Given the description of an element on the screen output the (x, y) to click on. 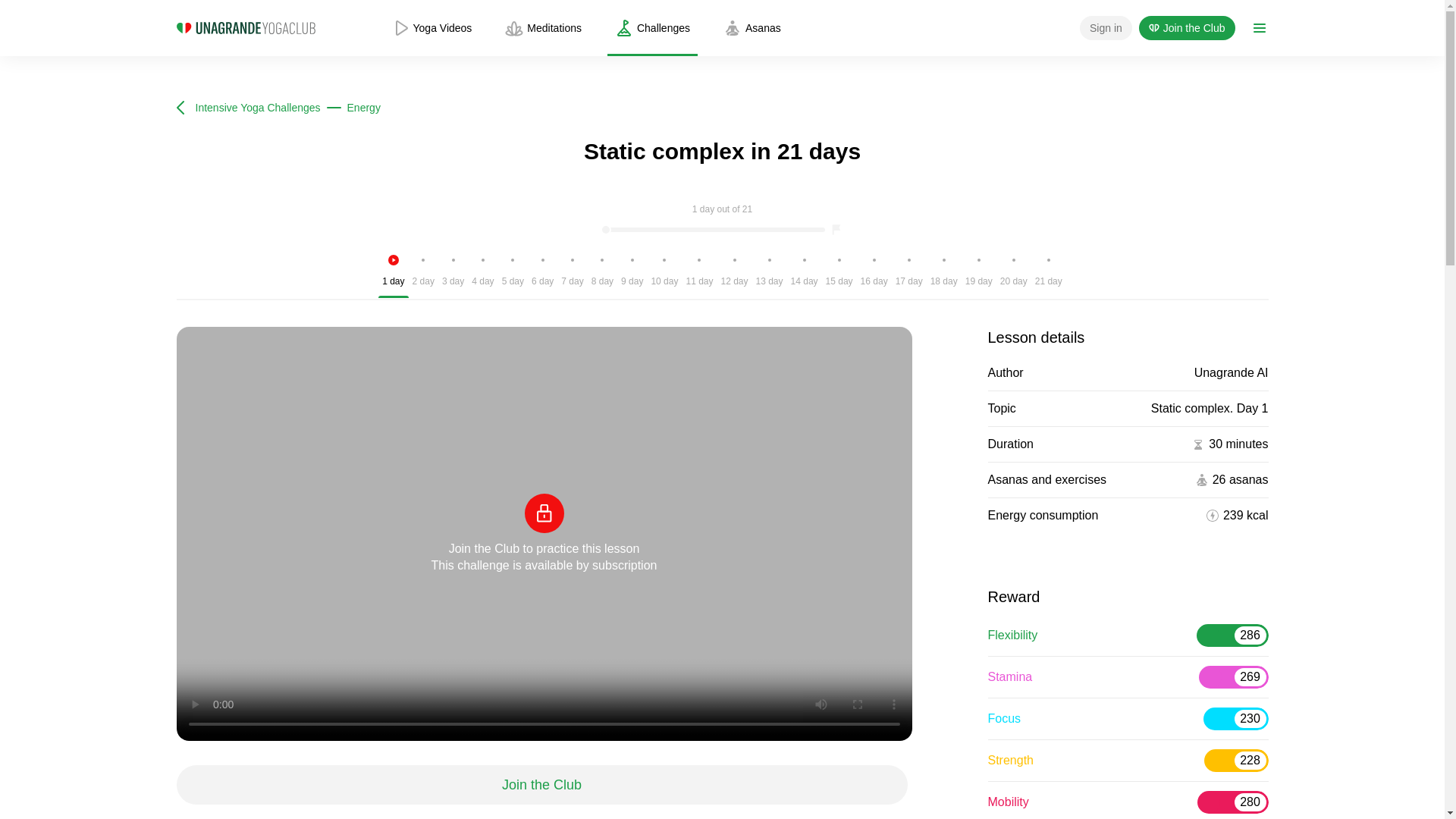
Sign in (1106, 27)
Intensive Yoga Challenges (248, 107)
Asanas (752, 28)
6 day (542, 274)
Yoga Videos (432, 28)
Energy (363, 107)
4 day (482, 274)
3 day (452, 274)
7 day (571, 274)
1 day (392, 274)
Challenges (652, 28)
Energy (363, 107)
Meditations (543, 28)
2 day (423, 274)
5 day (512, 274)
